Given the description of an element on the screen output the (x, y) to click on. 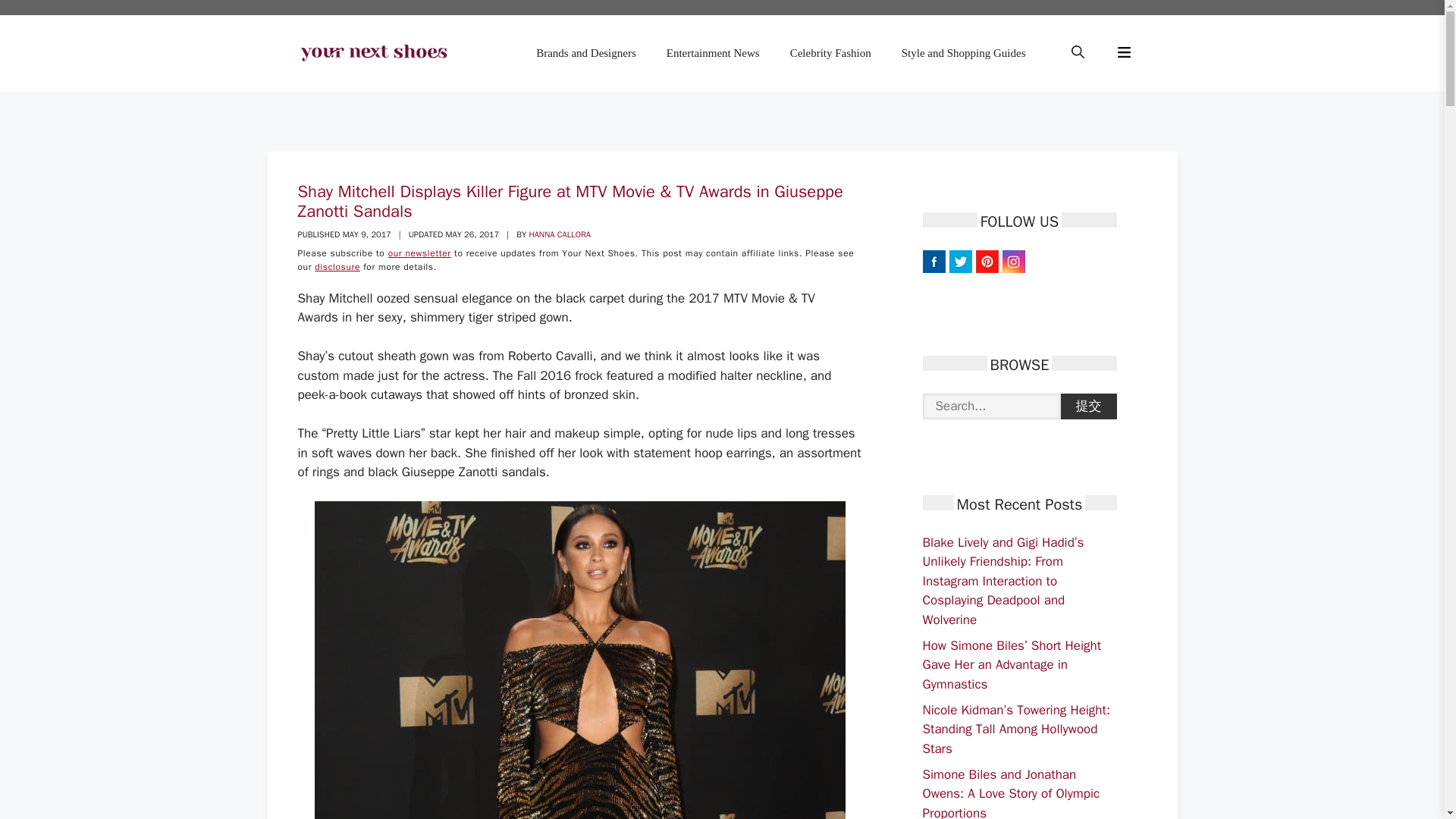
Entertainment News (712, 53)
Celebrity Fashion (830, 53)
Style and Shopping Guides (963, 53)
Twitter (960, 261)
Brands and Designers (585, 53)
Pinterest (986, 261)
disclosure (336, 266)
our newsletter (419, 253)
Instagram (1014, 261)
